Given the description of an element on the screen output the (x, y) to click on. 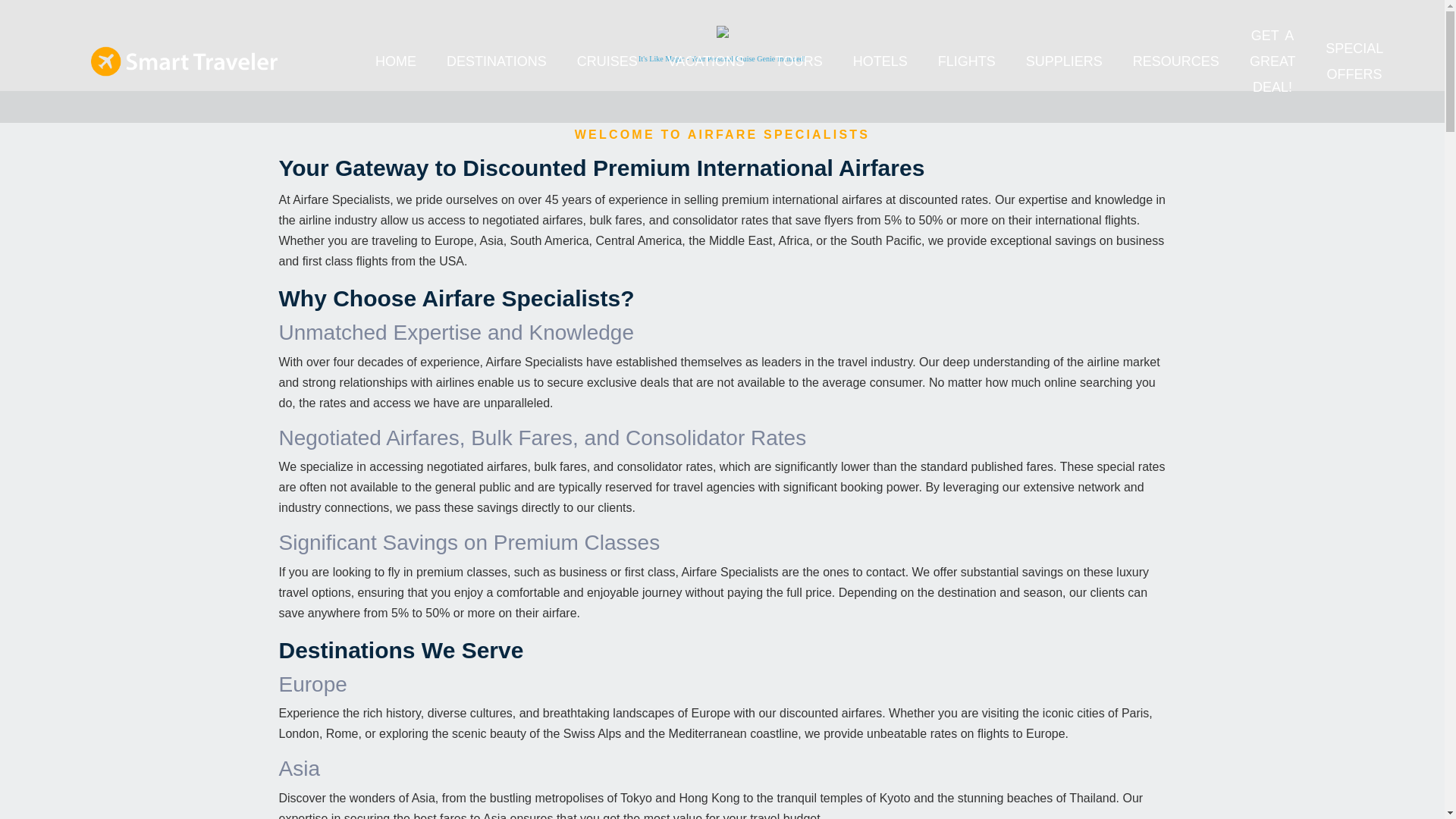
SPECIAL OFFERS (1352, 61)
RESOURCES (1176, 61)
TOURS (798, 61)
VACATIONS (706, 61)
It's Like Magic - Your Personal Cruise Genie Included! (722, 58)
HOTELS (880, 61)
CRUISES (606, 61)
FLIGHTS (966, 61)
DESTINATIONS (496, 61)
SUPPLIERS (1064, 61)
